Given the description of an element on the screen output the (x, y) to click on. 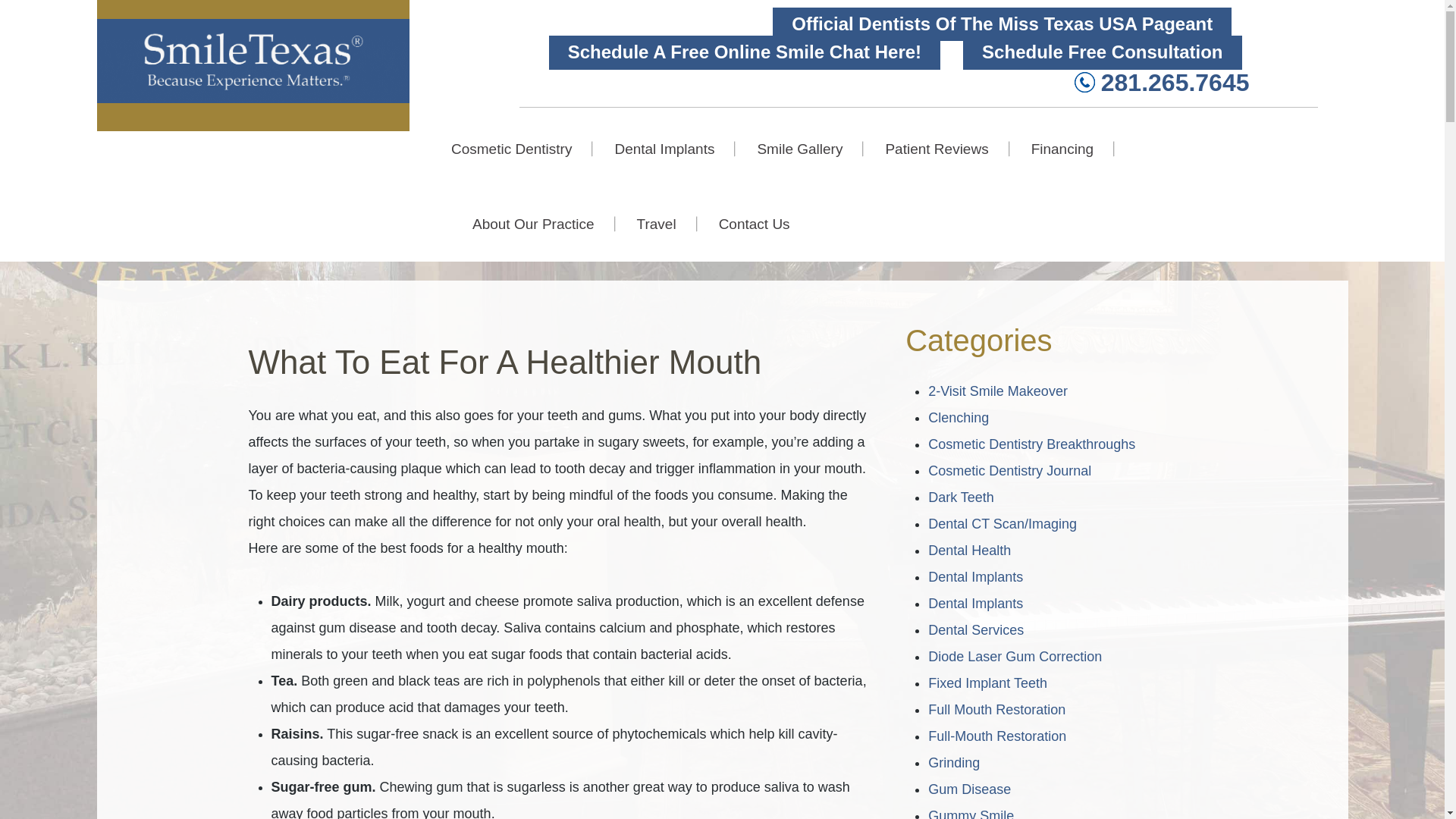
281.265.7645 (1161, 84)
Patient Reviews (936, 148)
Travel (656, 223)
About Our Practice (533, 223)
Dental Implants (663, 148)
Financing (1062, 148)
Schedule Free Consultation (1101, 52)
Smile Gallery (799, 148)
Schedule A Free Online Smile Chat Here! (744, 52)
Cosmetic Dentistry (521, 148)
Official Dentists Of The Miss Texas USA Pageant (1002, 23)
Contact Us (743, 223)
